Given the description of an element on the screen output the (x, y) to click on. 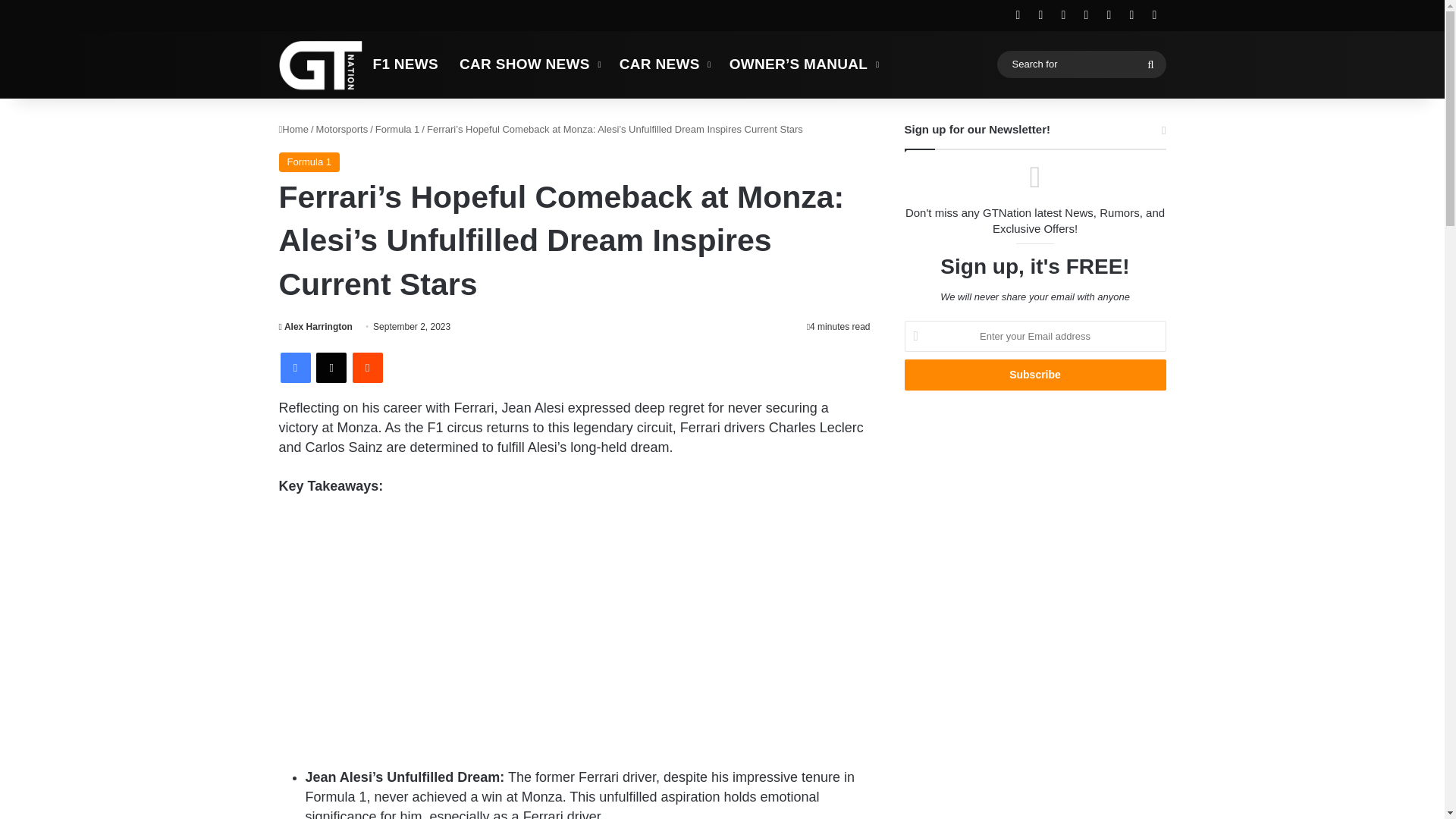
Motorsports (341, 129)
Search for (1150, 63)
Facebook (296, 367)
CAR NEWS (663, 64)
Reddit (367, 367)
Grand Tour Nation (320, 64)
Alex Harrington (315, 326)
Facebook (296, 367)
Reddit (367, 367)
X (330, 367)
Home (293, 129)
Subscribe (1035, 374)
Alex Harrington (315, 326)
Formula 1 (309, 161)
Search for (1080, 63)
